Given the description of an element on the screen output the (x, y) to click on. 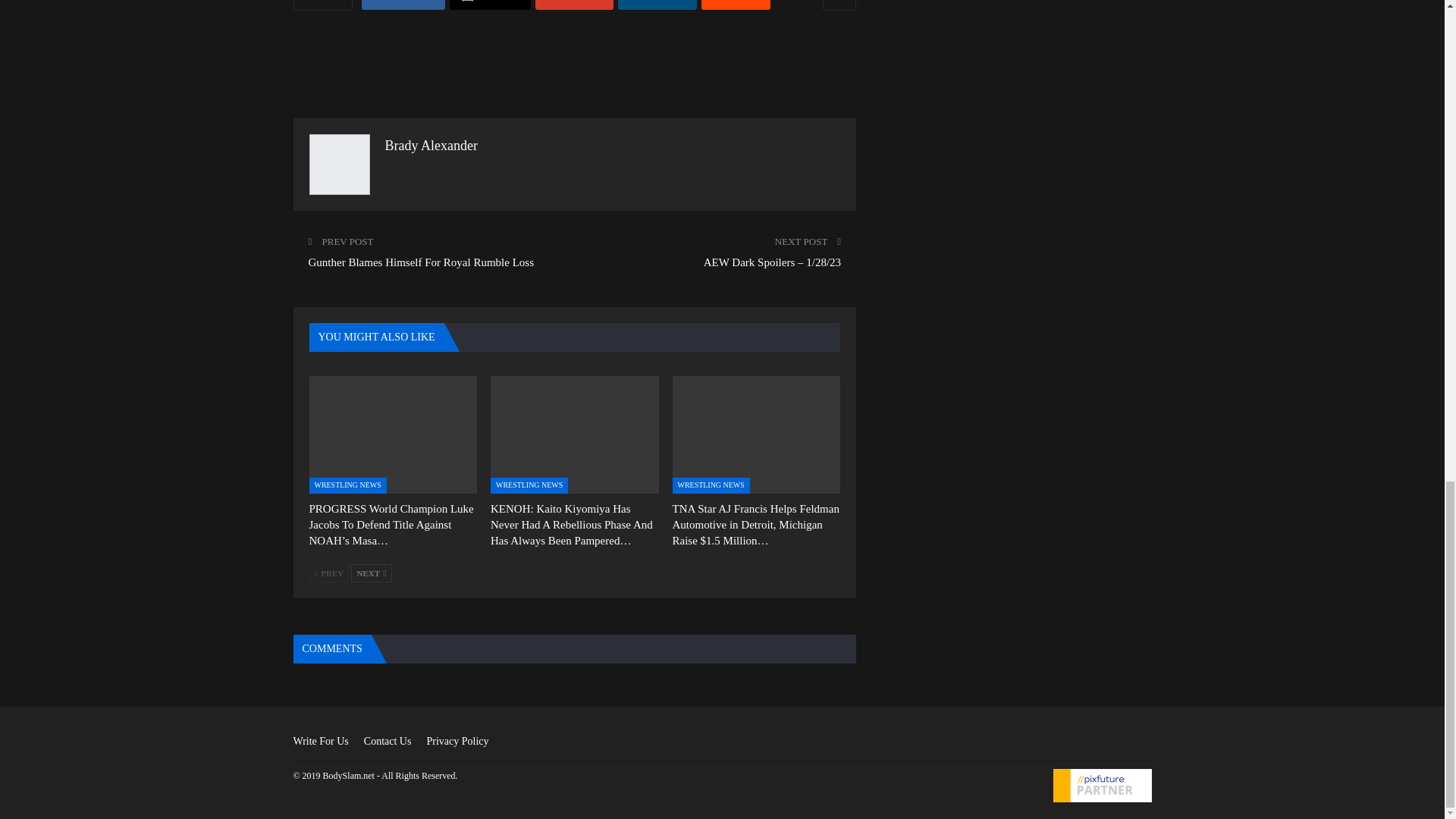
Previous (328, 573)
Next (370, 573)
